Given the description of an element on the screen output the (x, y) to click on. 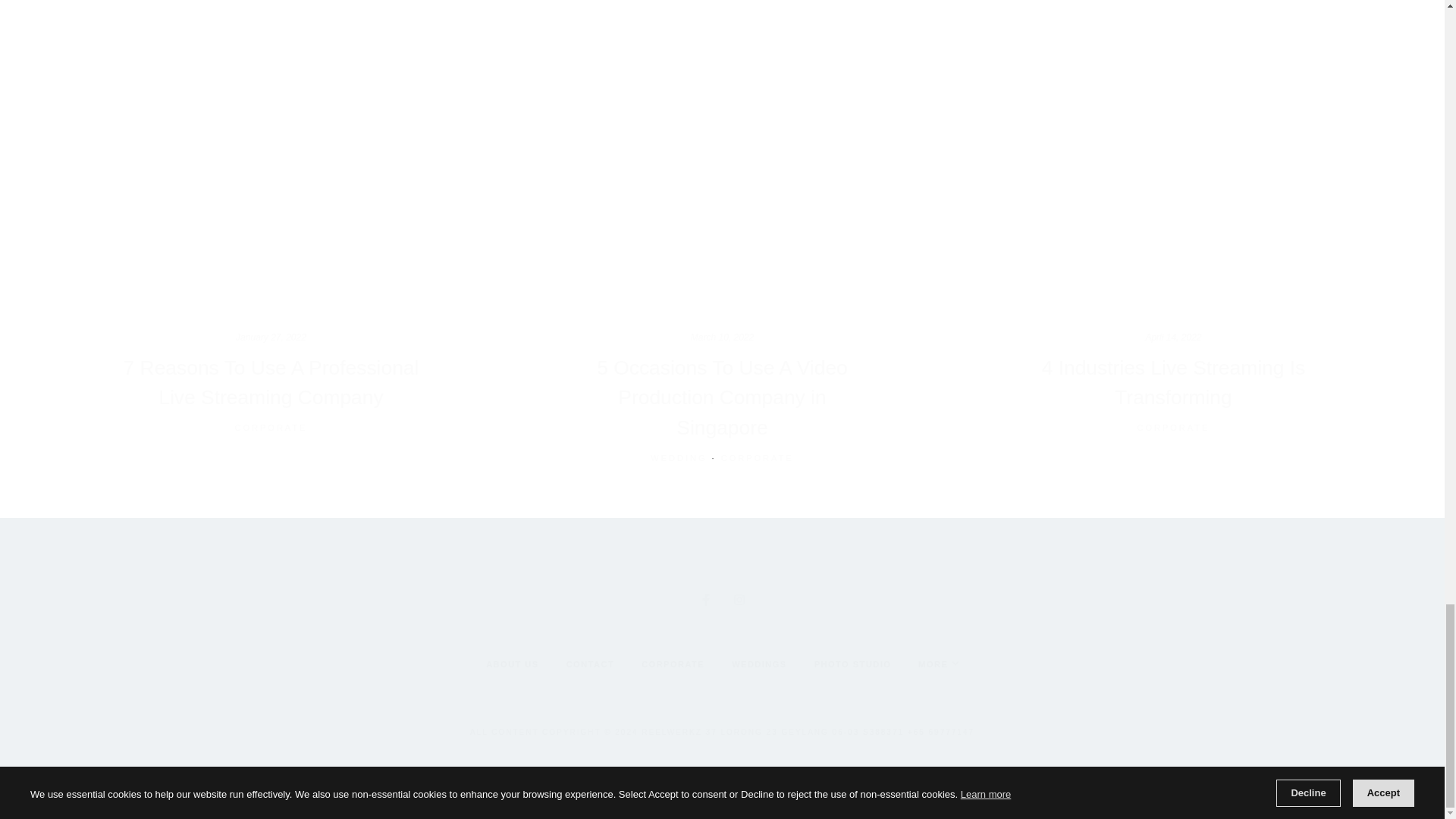
CORPORATE (1173, 427)
WEDDING (678, 457)
CORPORATE (270, 427)
CORPORATE (756, 457)
